Given the description of an element on the screen output the (x, y) to click on. 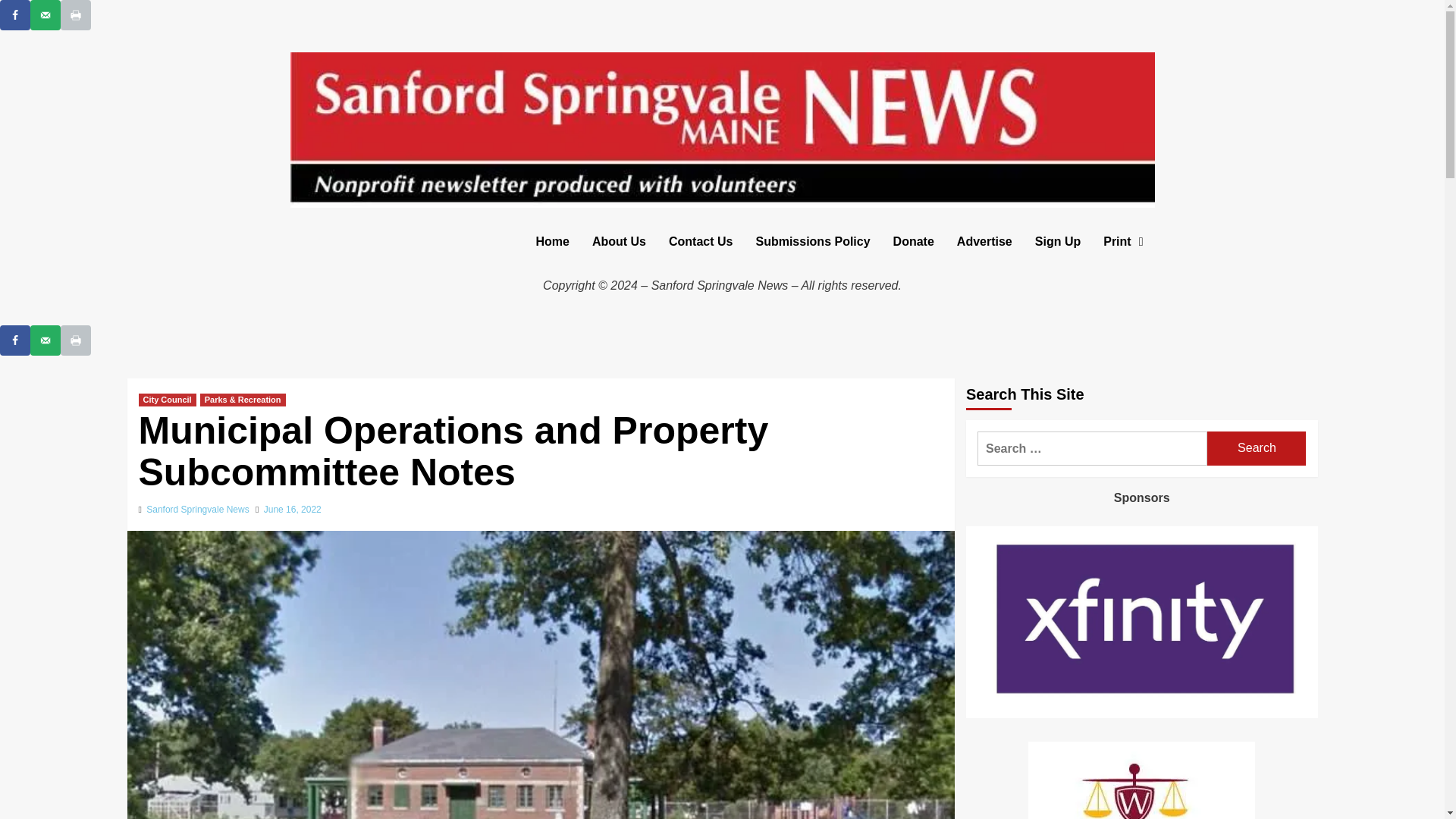
Home (551, 241)
Send over email (45, 340)
Print this webpage (75, 340)
Print (1123, 241)
Share on Facebook (15, 15)
About Us (619, 241)
Sanford Springvale News (197, 509)
Advertise (983, 241)
Print this webpage (75, 15)
Donate (913, 241)
